Given the description of an element on the screen output the (x, y) to click on. 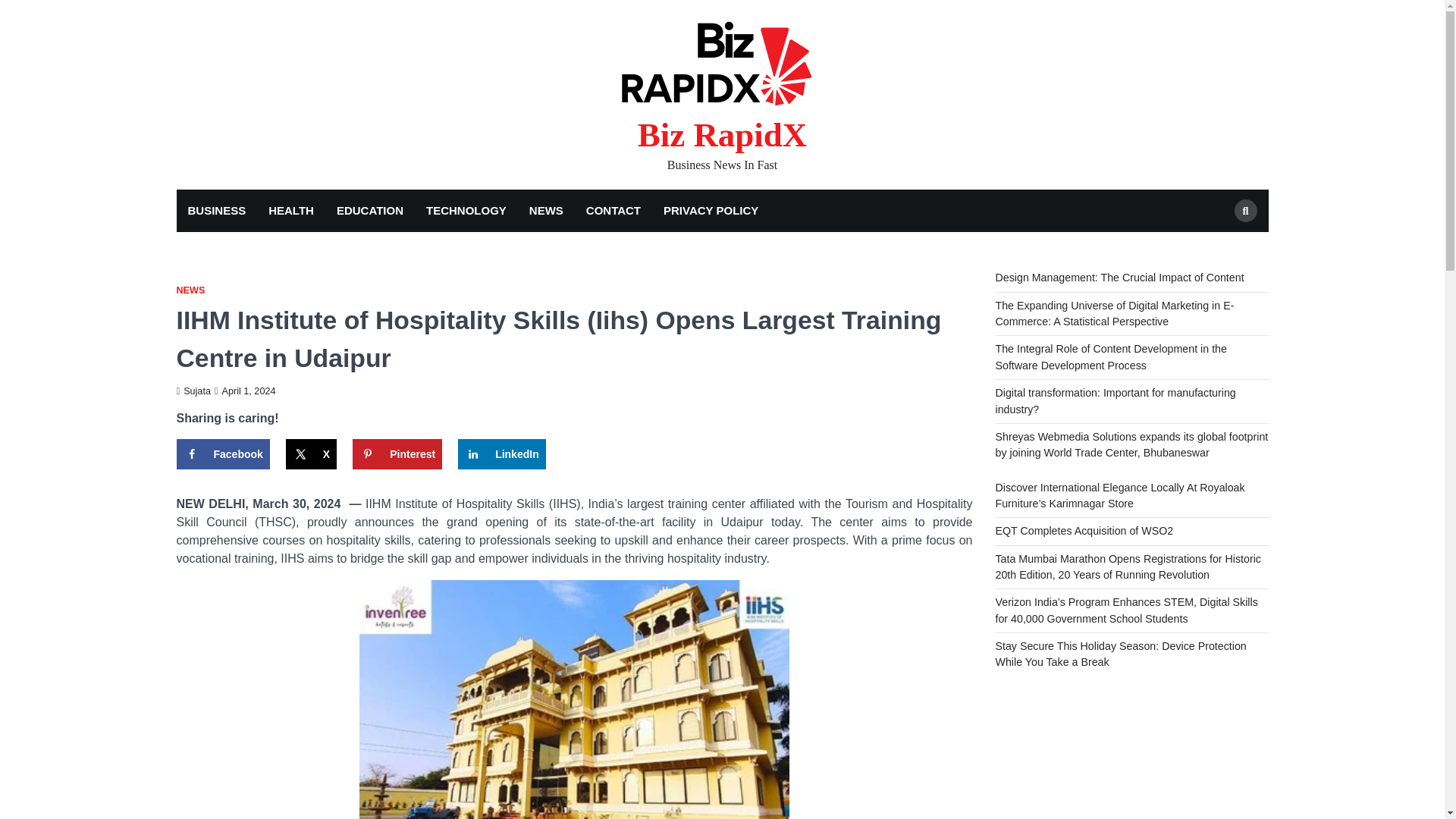
Share on Facebook (222, 453)
Biz RapidX (722, 134)
PRIVACY POLICY (711, 210)
EDUCATION (369, 210)
Save to Pinterest (397, 453)
TECHNOLOGY (466, 210)
Design Management: The Crucial Impact of Content (1118, 277)
LinkedIn (502, 453)
